Given the description of an element on the screen output the (x, y) to click on. 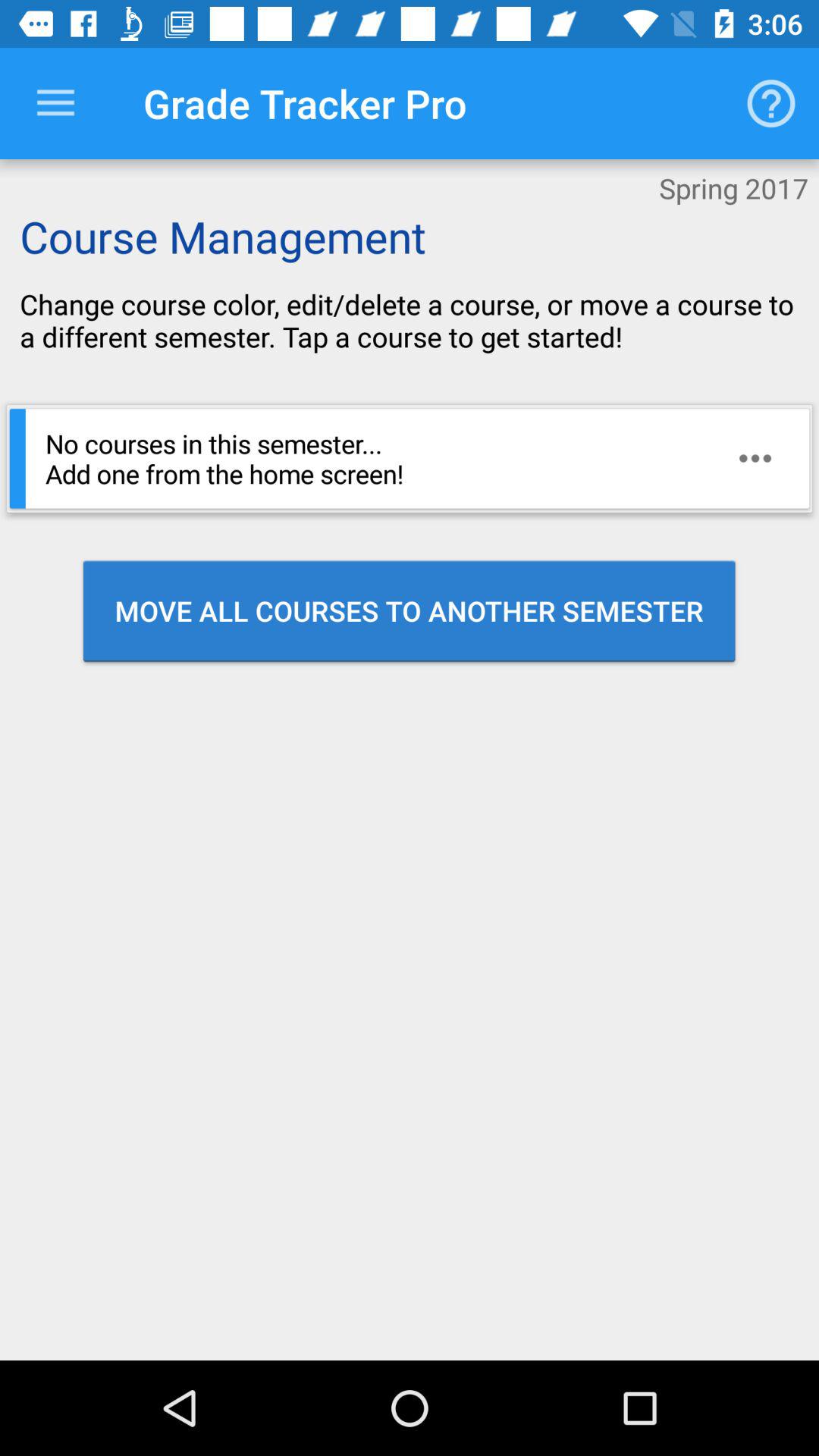
click on more icon (755, 458)
click on the question mark icon on the top right corner (771, 103)
